Given the description of an element on the screen output the (x, y) to click on. 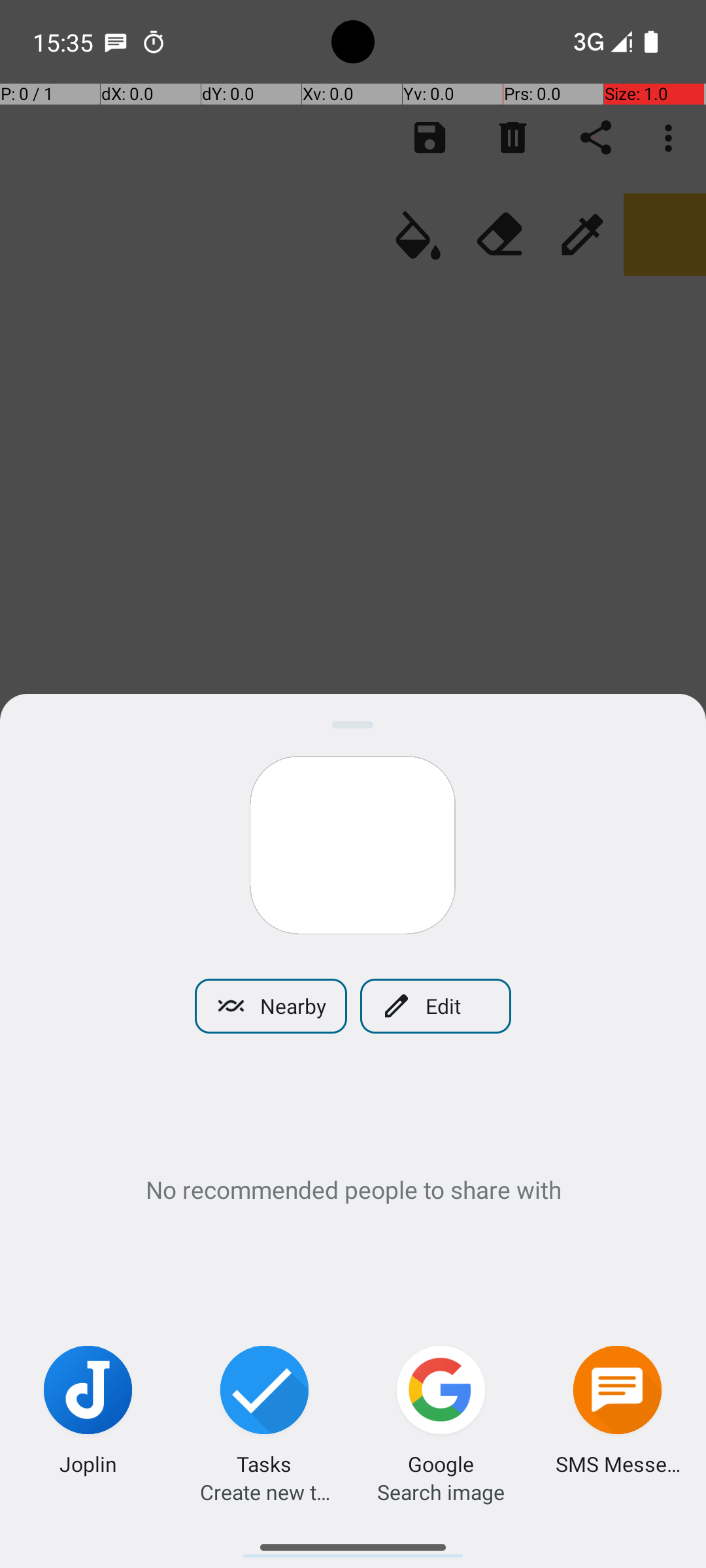
Search image Element type: android.widget.TextView (440, 1491)
